Given the description of an element on the screen output the (x, y) to click on. 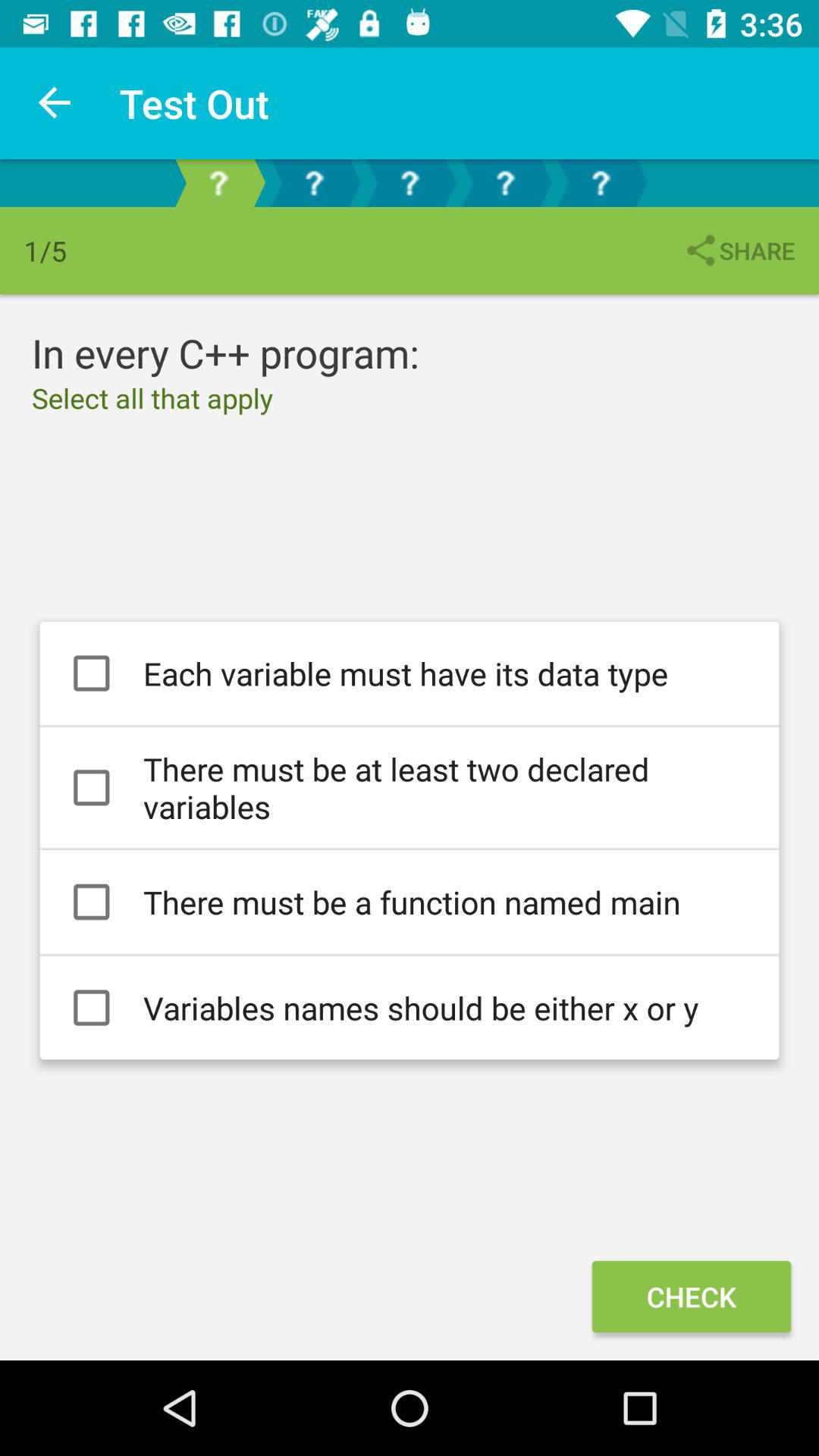
swipe until the share (738, 250)
